Given the description of an element on the screen output the (x, y) to click on. 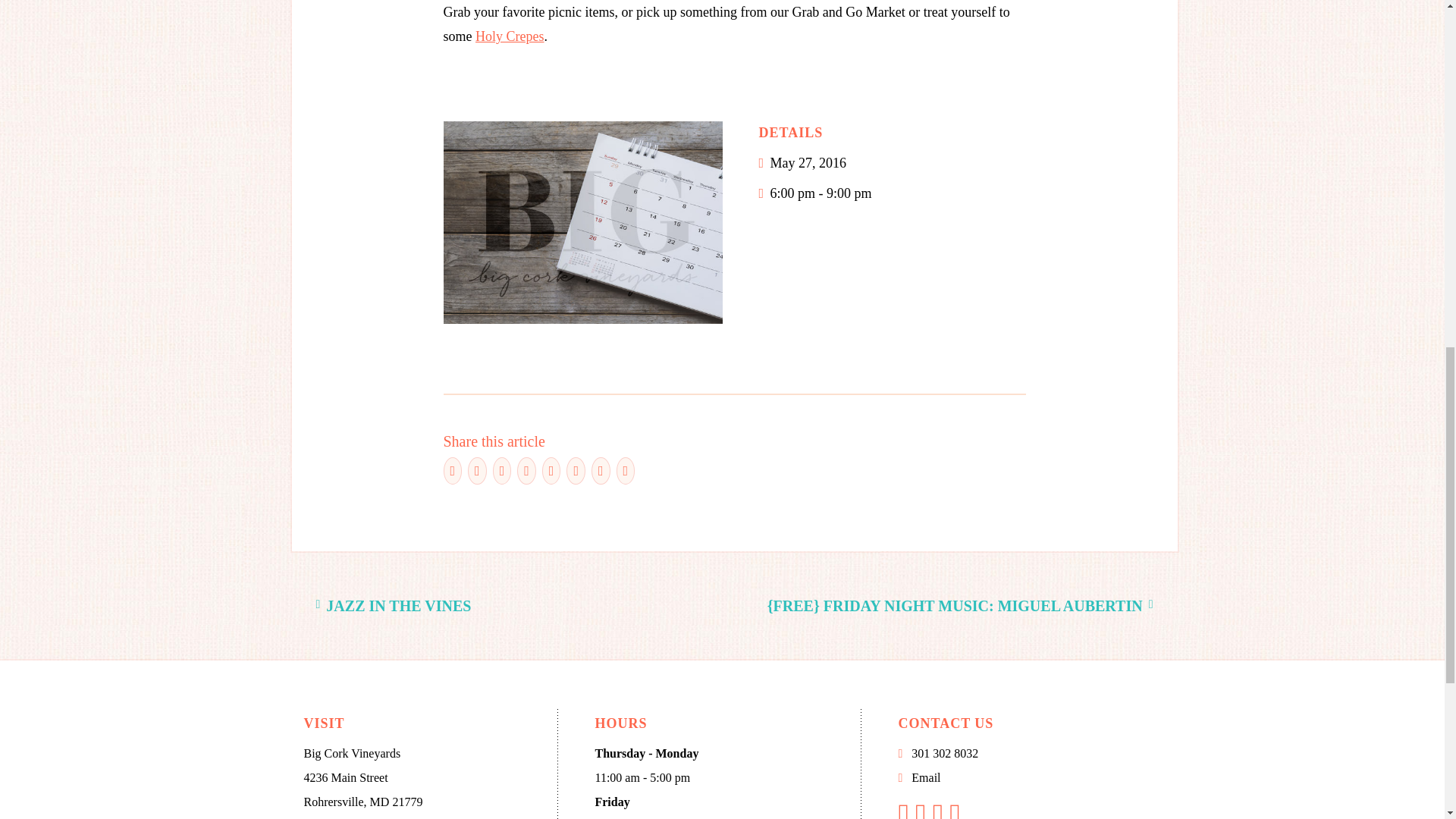
Holy Crepes (509, 36)
JAZZ IN THE VINES (392, 605)
Email (925, 777)
